Given the description of an element on the screen output the (x, y) to click on. 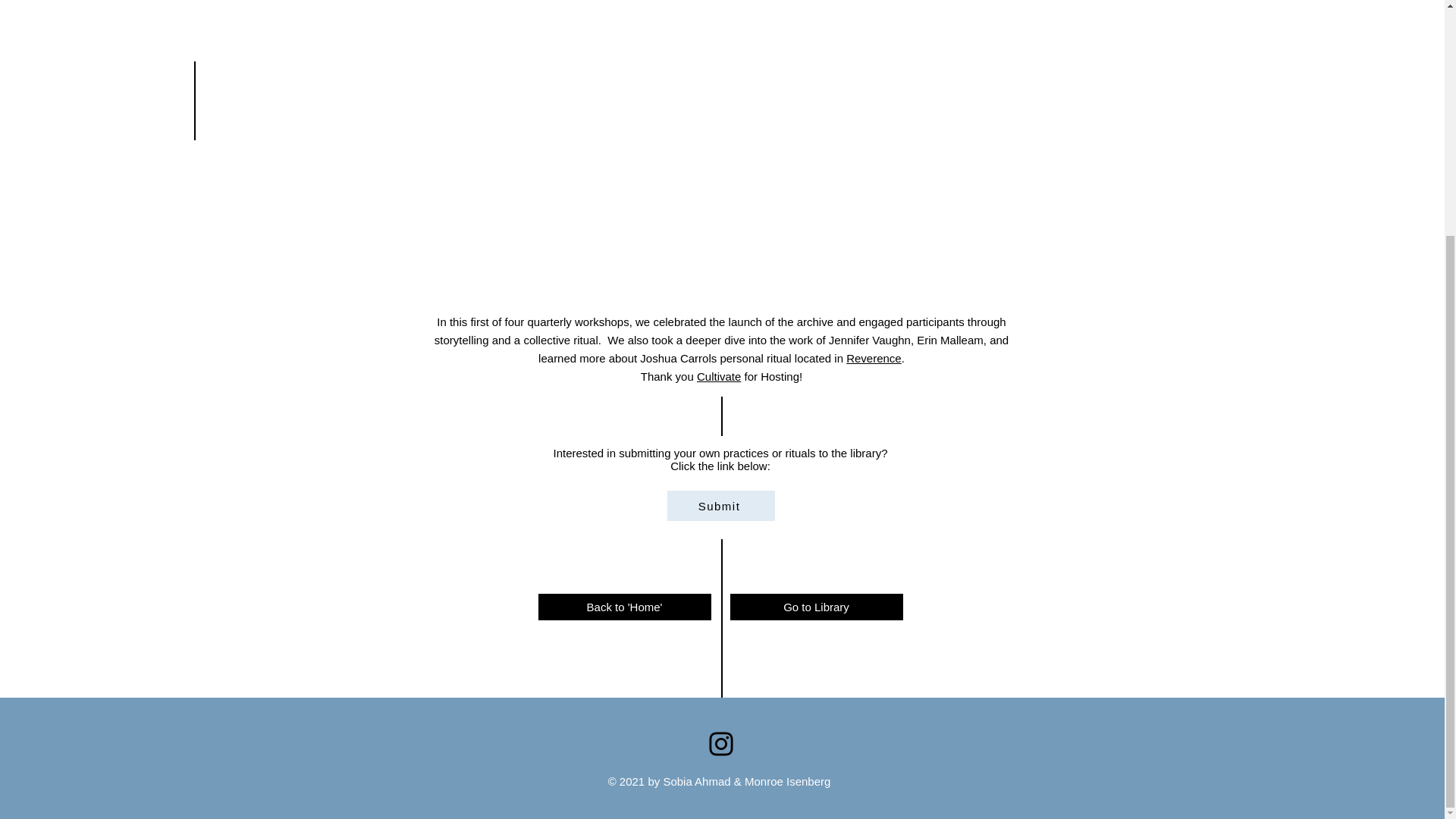
Back to 'Home' (624, 606)
Submit (720, 505)
Reverence (873, 358)
Go to Library (815, 606)
Cultivate (719, 376)
